Given the description of an element on the screen output the (x, y) to click on. 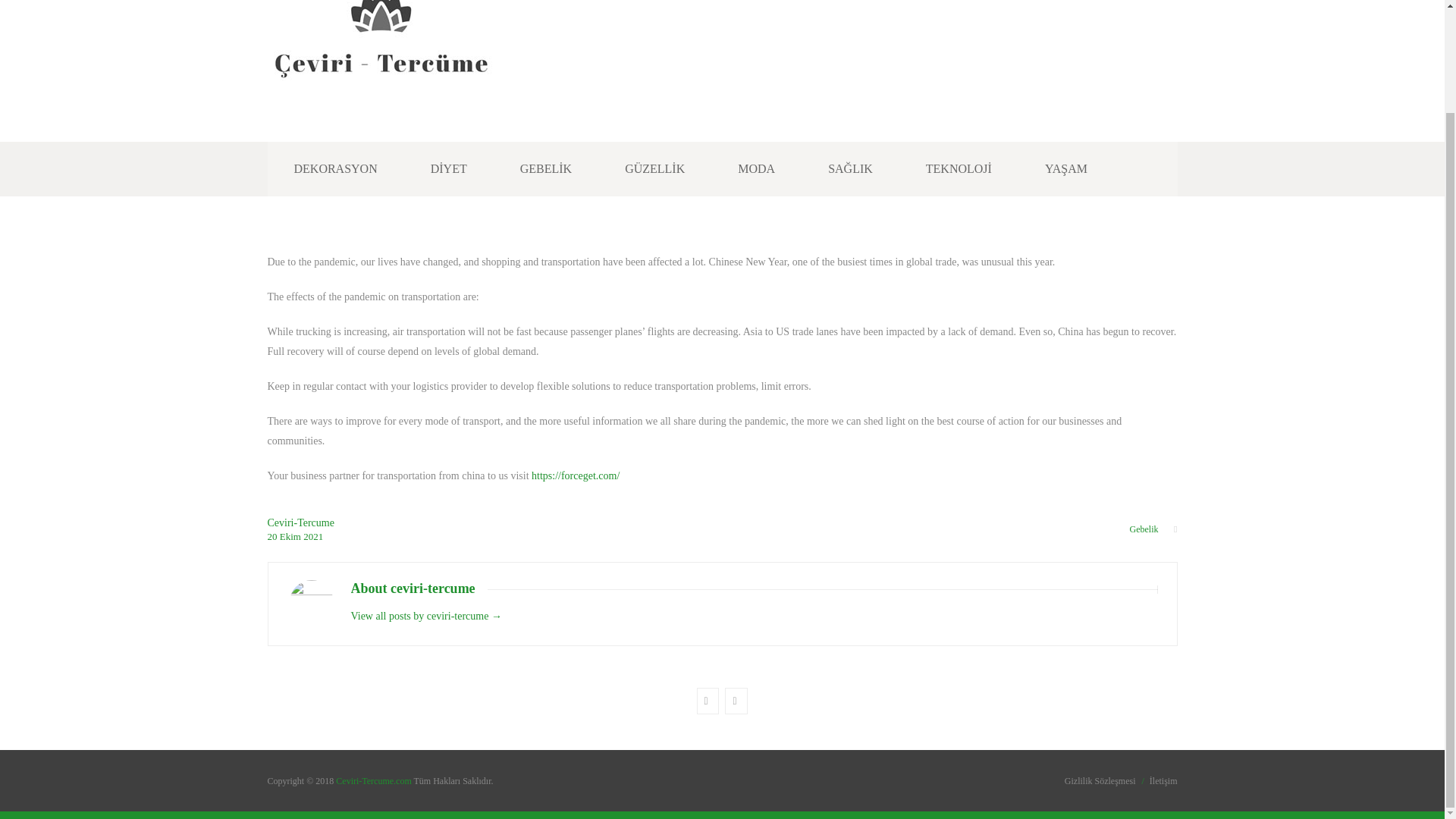
View all posts by ceviri-tercume (299, 522)
MODA (756, 168)
DIYET (448, 168)
Link to daily archives: 20 Ekim 2021 (272, 536)
Ekim (290, 536)
Link to monthly archives: Ekim (290, 536)
Link to yearly archives: 2021 (312, 536)
TEKNOLOJI (958, 168)
Ceviri-Tercume.com  (374, 780)
Ceviri-Tercume (299, 522)
